Given the description of an element on the screen output the (x, y) to click on. 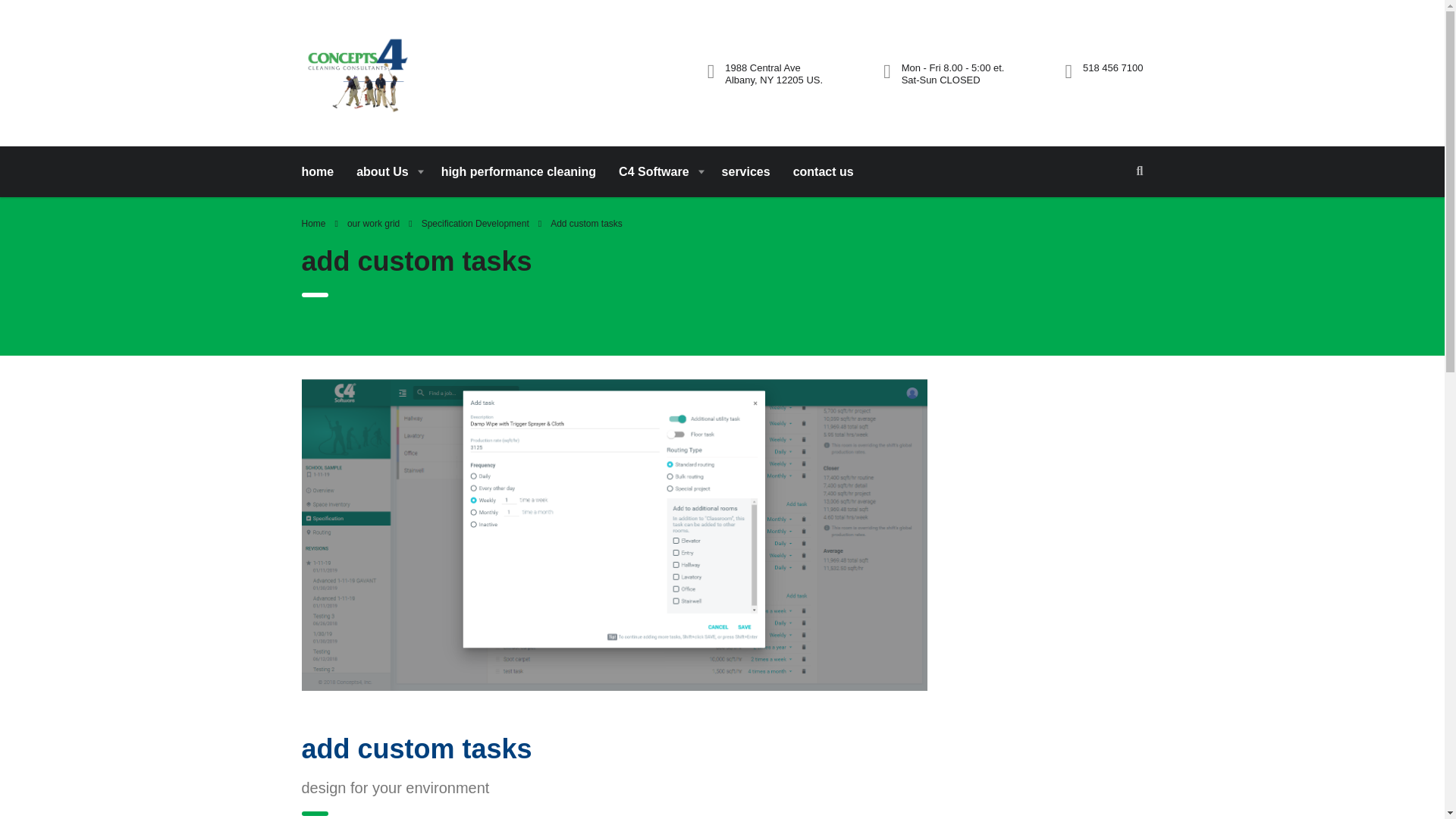
Go to Concepts4. (313, 223)
high performance cleaning (518, 171)
Specification Development (475, 223)
home (323, 171)
contact us (822, 171)
C4 Software (658, 171)
Home (313, 223)
Go to the Specification Development Categories archives. (475, 223)
Go to our work grid. (372, 223)
services (745, 171)
our work grid (372, 223)
about Us (387, 171)
